Given the description of an element on the screen output the (x, y) to click on. 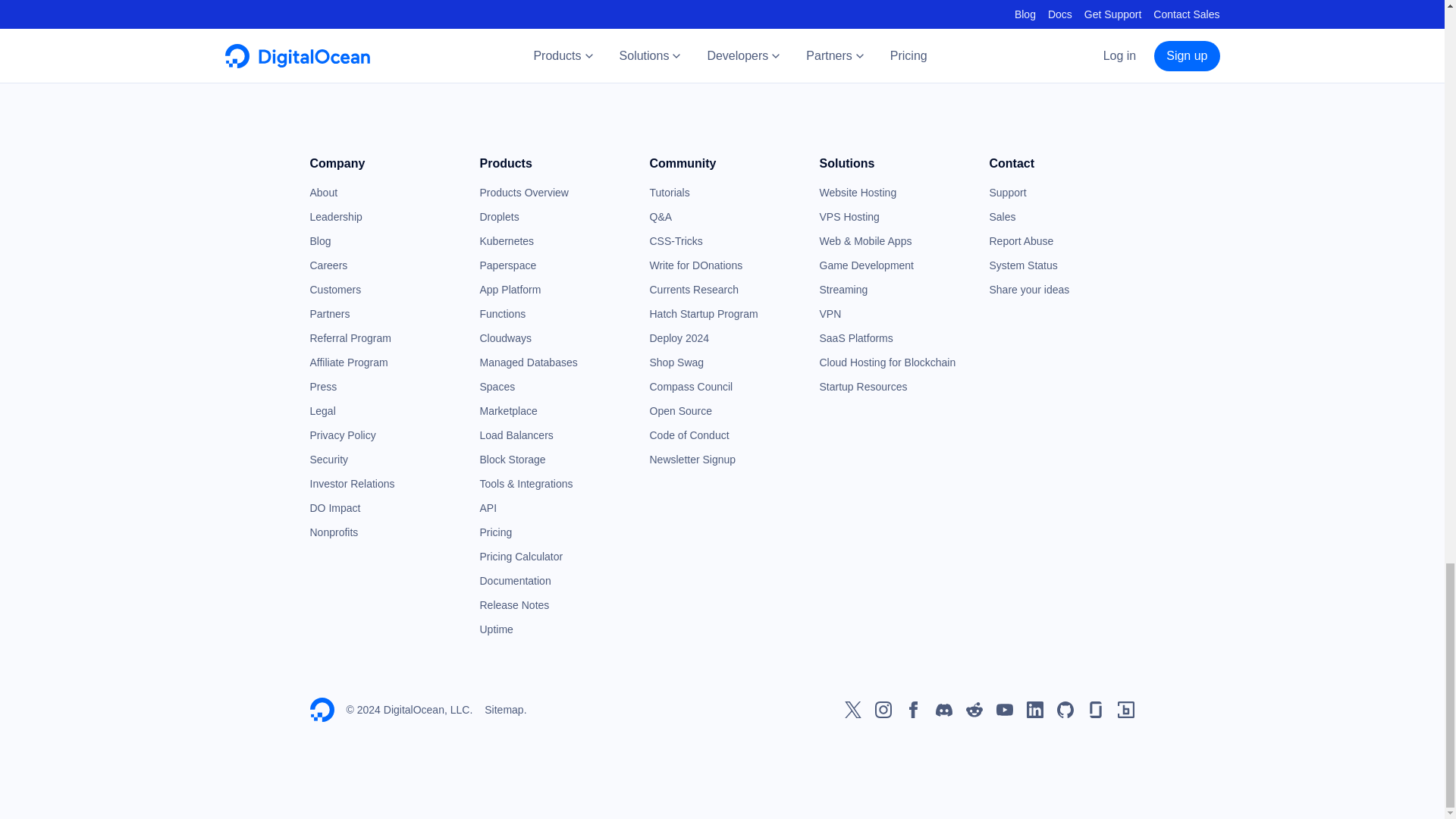
Facebook (912, 710)
LinkedIn (1034, 710)
Instagram (882, 710)
BuiltInNYC (1125, 710)
GitHub (1064, 710)
YouTube (1003, 710)
Discord (943, 710)
Reddit (972, 710)
Glassdoor (1094, 710)
